Given the description of an element on the screen output the (x, y) to click on. 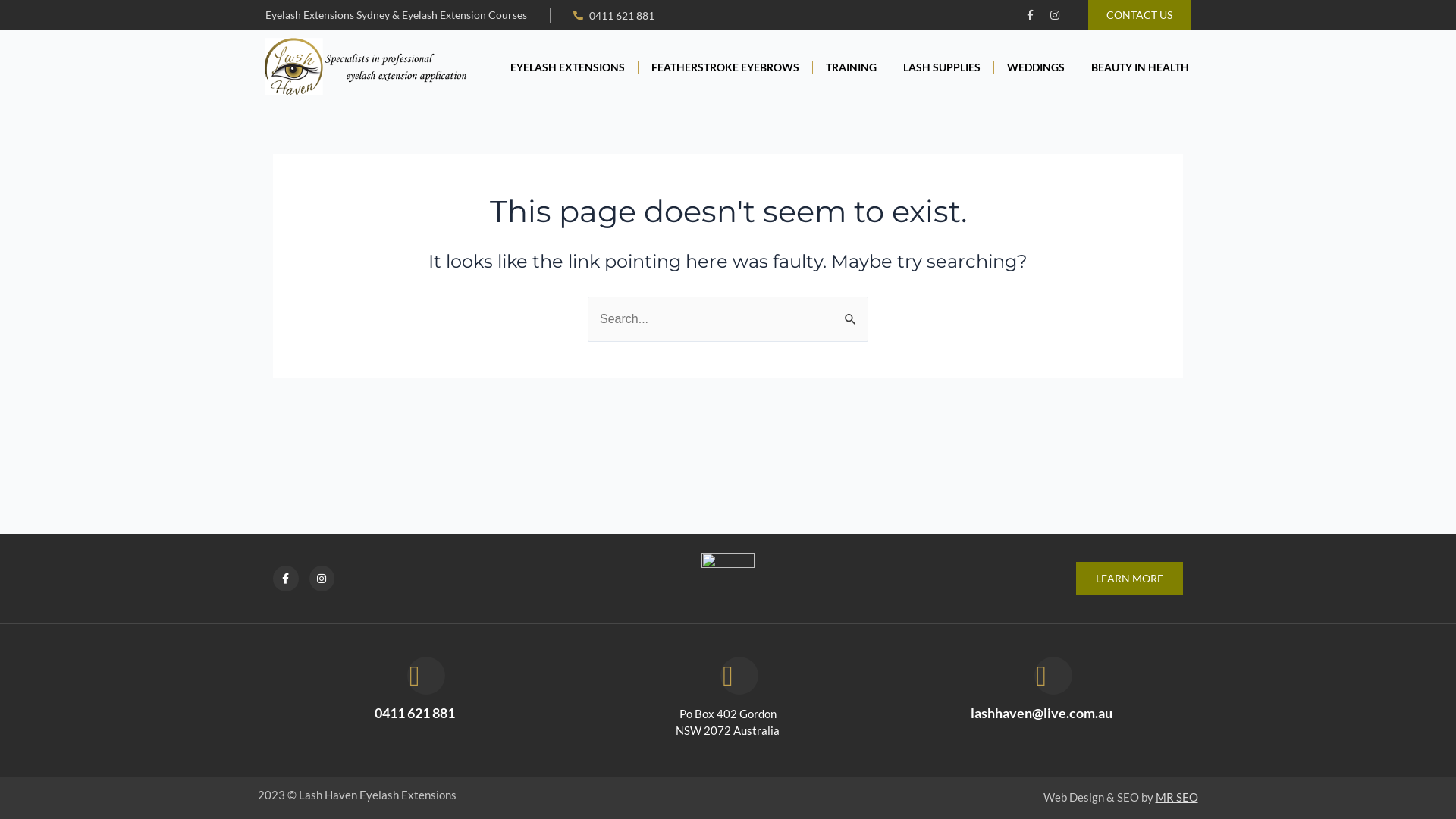
Facebook-f Element type: text (285, 578)
TRAINING Element type: text (851, 67)
0411 621 881 Element type: text (613, 14)
Instagram Element type: text (1054, 14)
WEDDINGS Element type: text (1036, 67)
BEAUTY IN HEALTH Element type: text (1135, 67)
EYELASH EXTENSIONS Element type: text (567, 67)
Instagram Element type: text (322, 578)
LASH SUPPLIES Element type: text (942, 67)
lashhaven@live.com.au Element type: text (1041, 712)
FEATHERSTROKE EYEBROWS Element type: text (725, 67)
LEARN MORE Element type: text (1129, 578)
Search Element type: text (851, 312)
MR SEO Element type: text (1176, 796)
Facebook-f Element type: text (1029, 14)
CONTACT US Element type: text (1139, 15)
0411 621 881 Element type: text (414, 712)
